Given the description of an element on the screen output the (x, y) to click on. 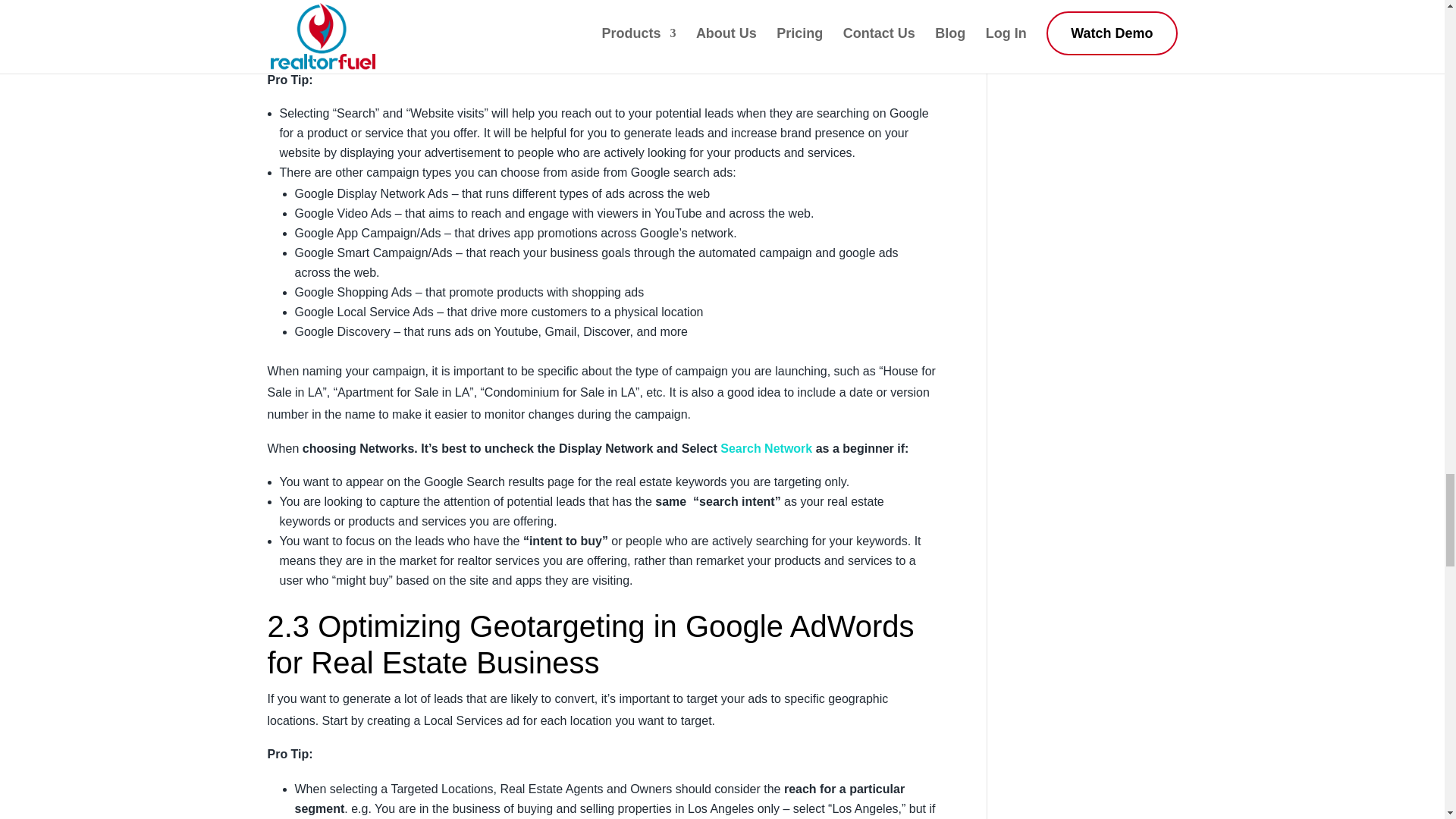
Search Network (766, 448)
